Given the description of an element on the screen output the (x, y) to click on. 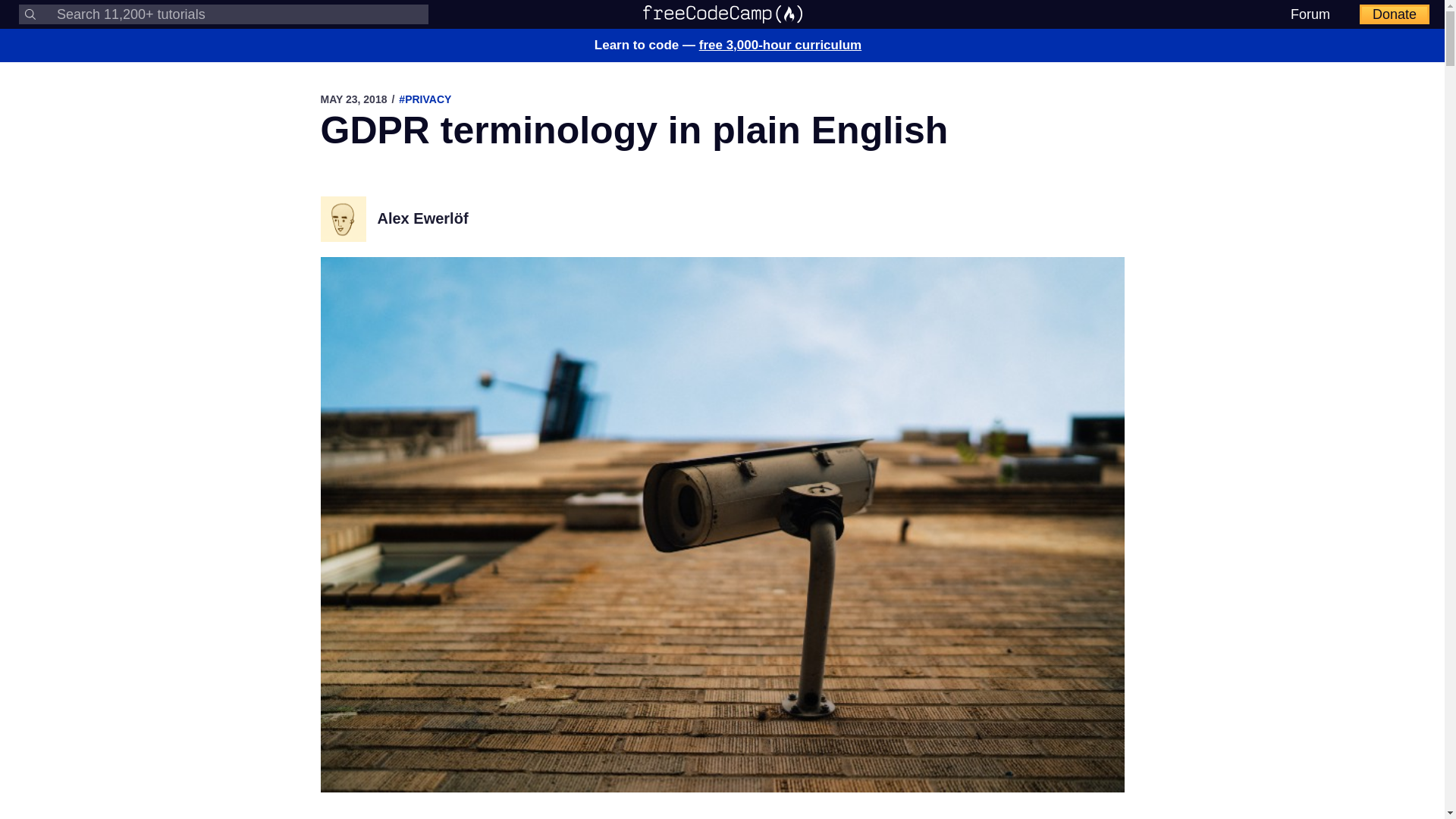
Submit your search query (30, 14)
Forum (1309, 14)
Donate (1394, 14)
